Given the description of an element on the screen output the (x, y) to click on. 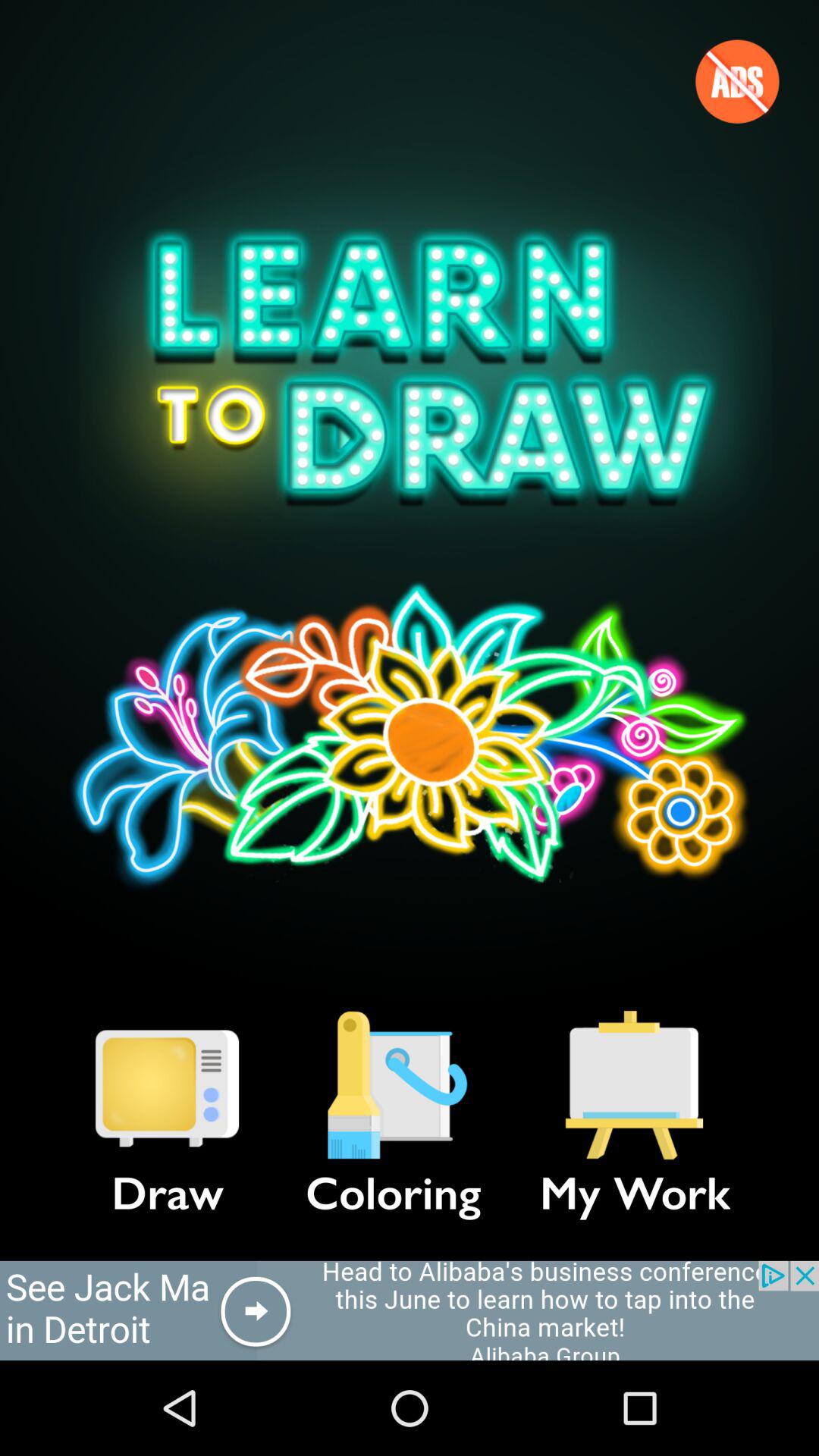
choose icon below the draw icon (409, 1310)
